Given the description of an element on the screen output the (x, y) to click on. 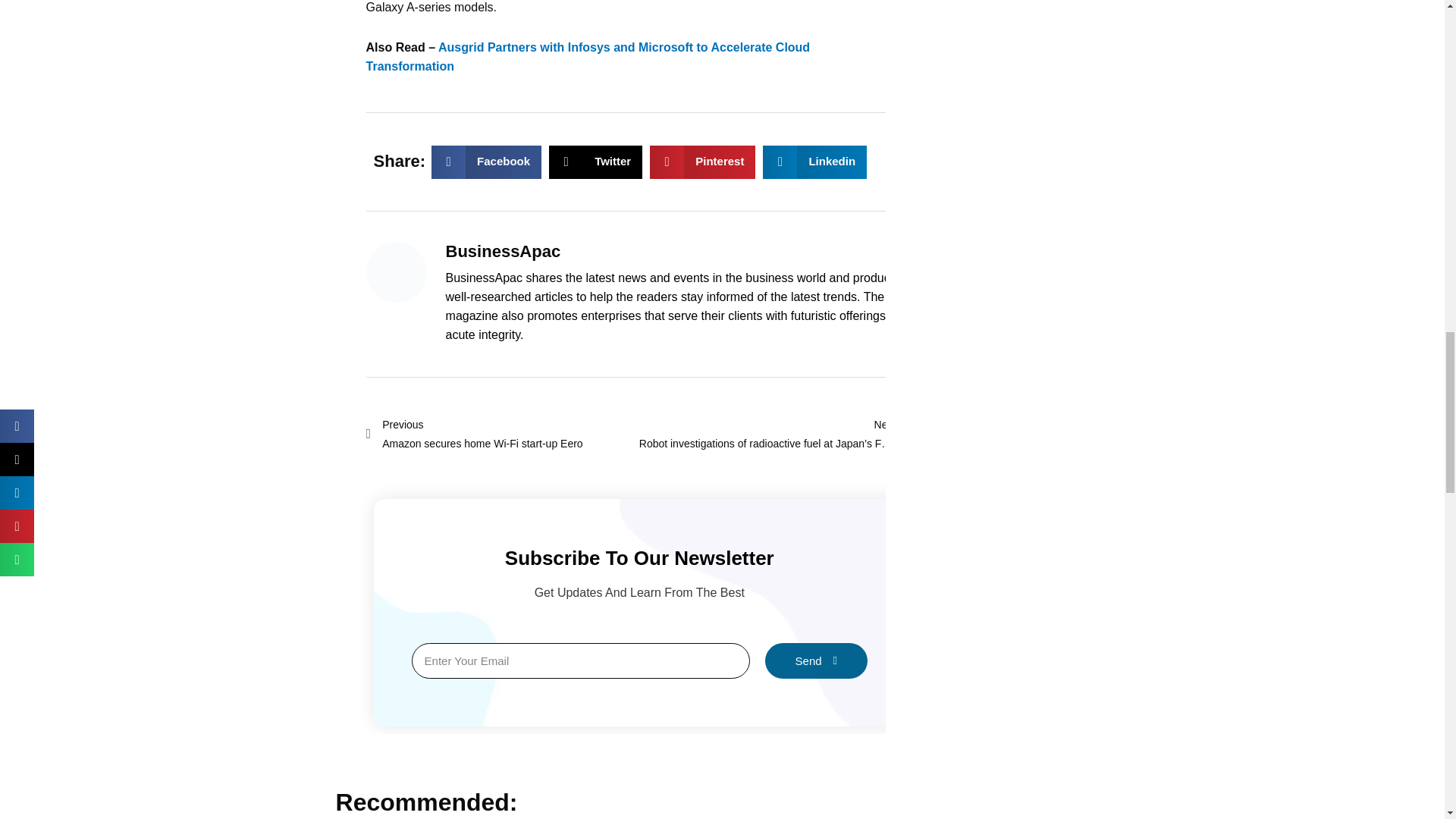
Send (502, 434)
